Given the description of an element on the screen output the (x, y) to click on. 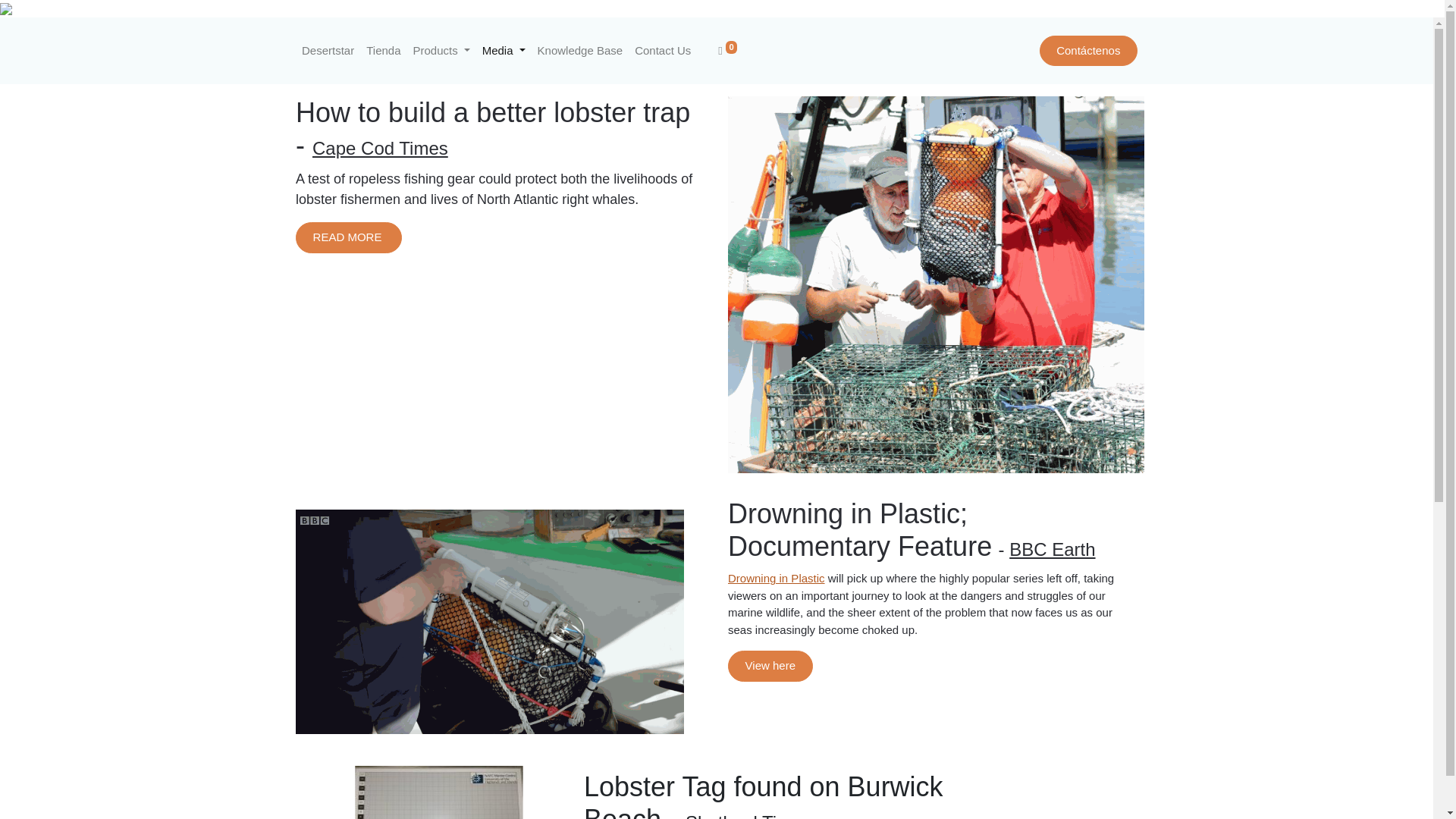
Desertstar (327, 51)
0 (726, 51)
Products (441, 51)
Knowledge Base (579, 51)
Tienda (382, 51)
View here (770, 665)
Media (503, 51)
READ MORE  (348, 237)
Contact Us (662, 51)
Drowning in Plastic (776, 577)
